Given the description of an element on the screen output the (x, y) to click on. 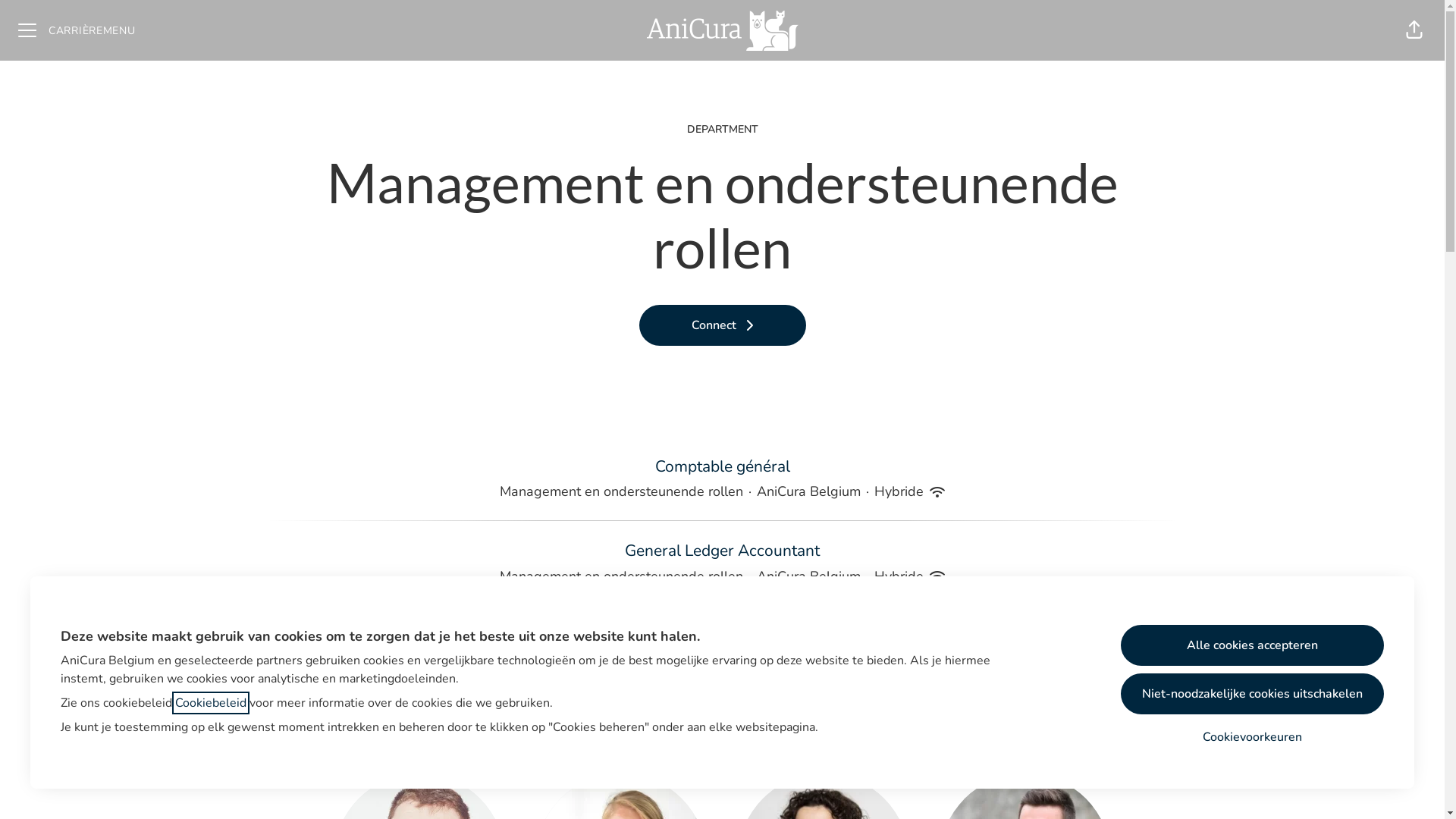
Alle cookies accepteren Element type: text (1251, 644)
Cookiebeleid Element type: text (210, 702)
Niet-noodzakelijke cookies uitschakelen Element type: text (1251, 693)
Alle vacatures Element type: text (721, 661)
Pagina delen Element type: hover (1414, 30)
Cookievoorkeuren Element type: text (1252, 736)
Connect Element type: text (721, 324)
